Given the description of an element on the screen output the (x, y) to click on. 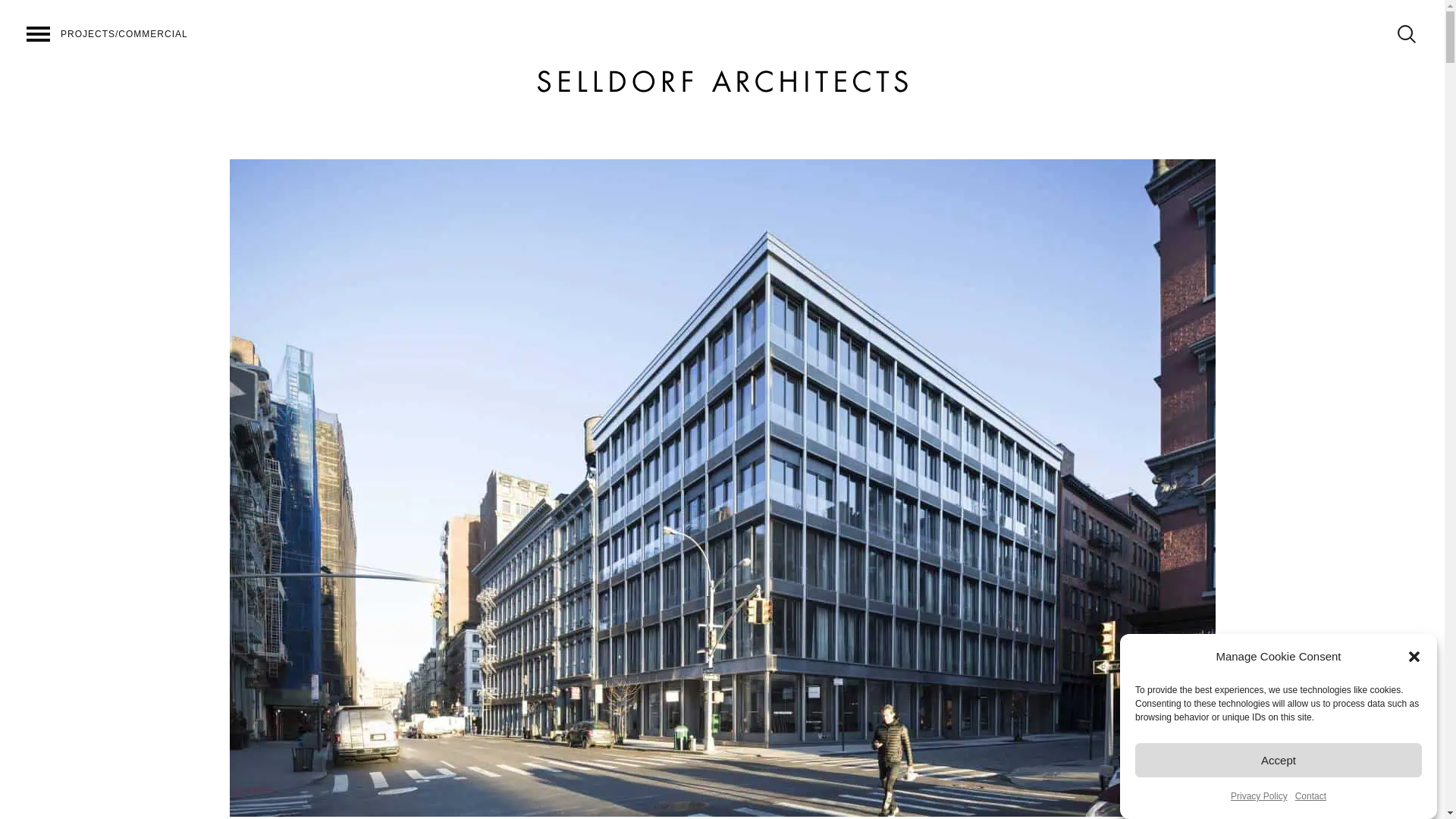
Contact (1310, 812)
